Given the description of an element on the screen output the (x, y) to click on. 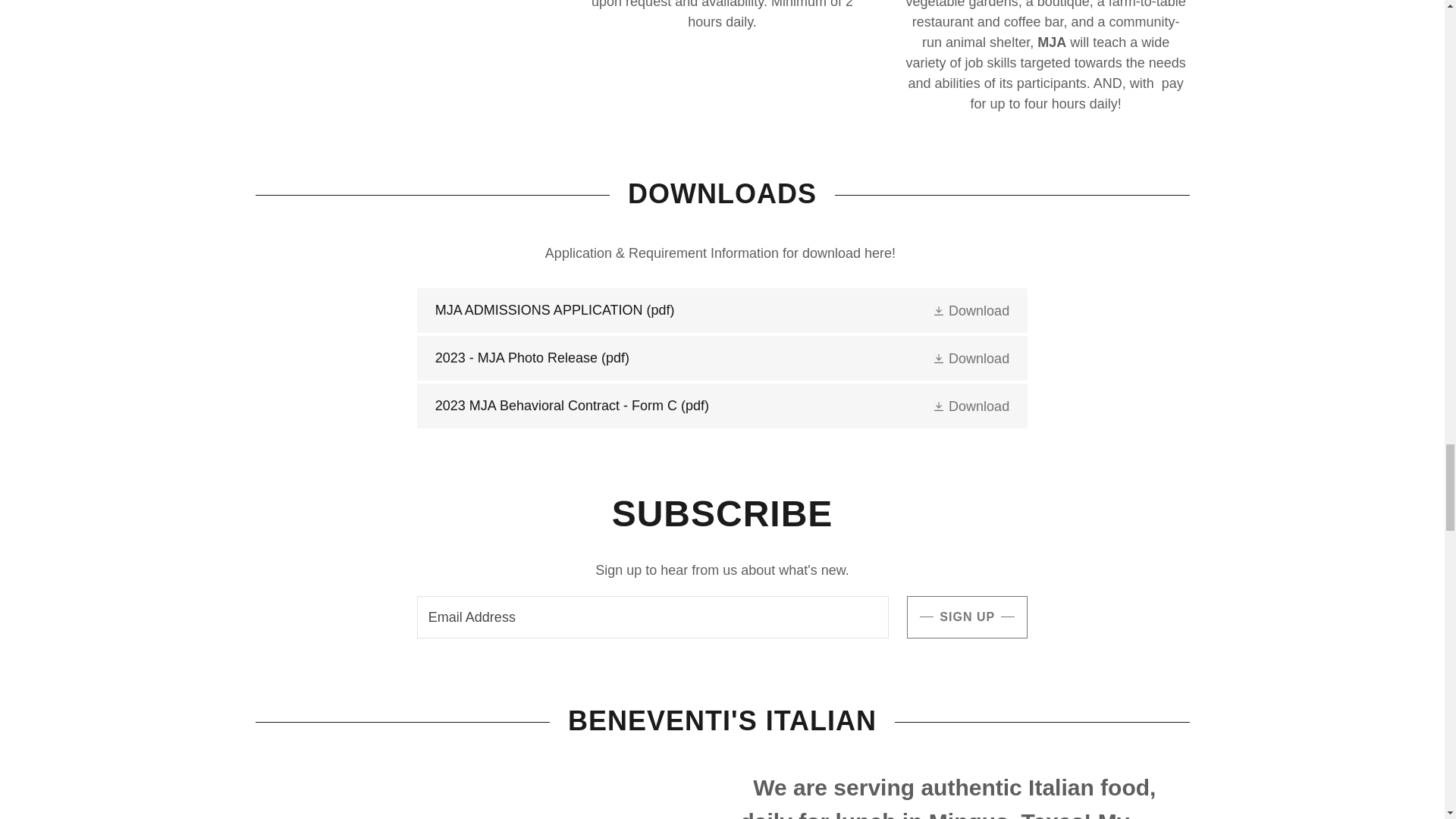
SIGN UP (967, 617)
